Given the description of an element on the screen output the (x, y) to click on. 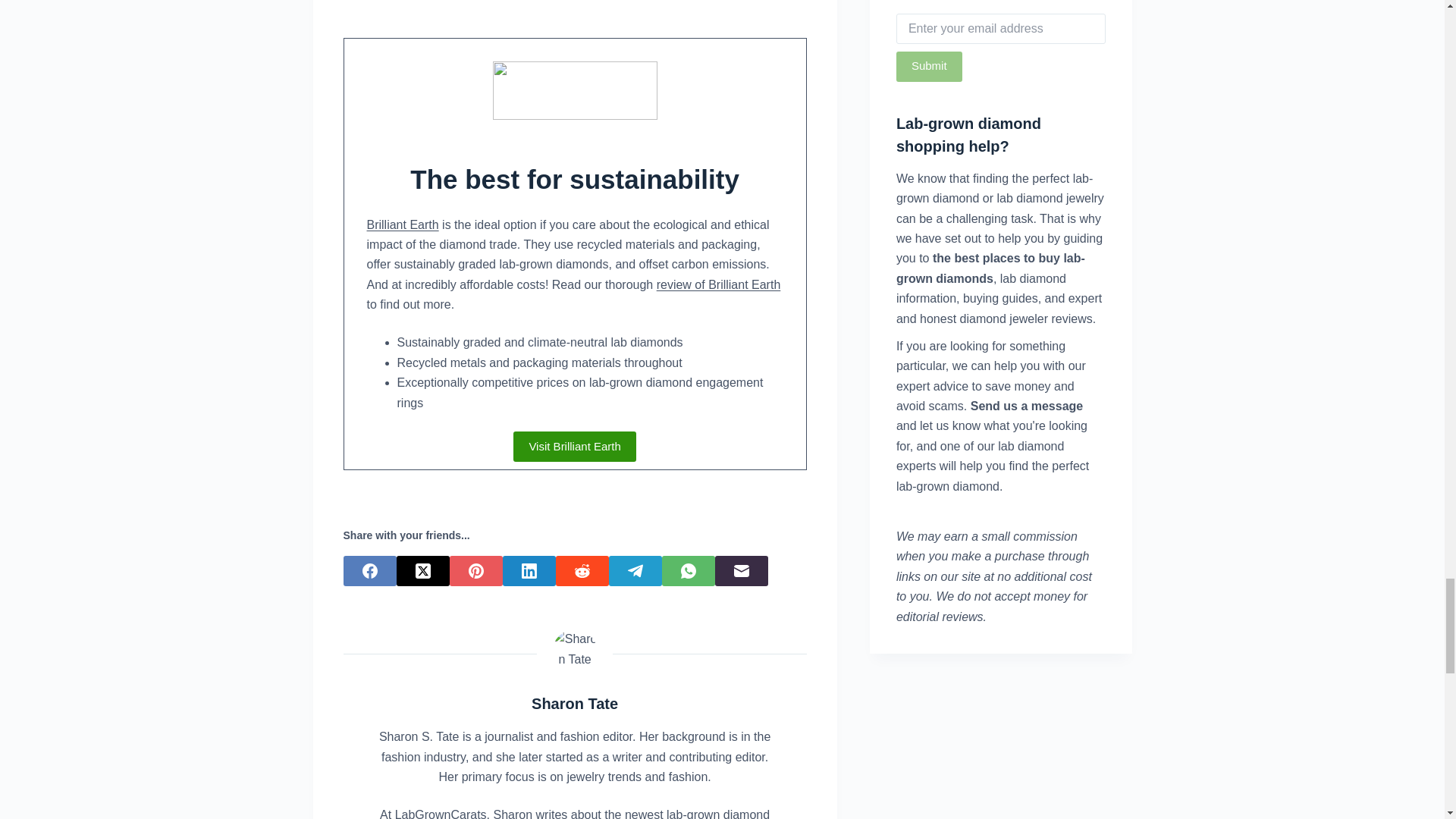
Submit (929, 66)
